Given the description of an element on the screen output the (x, y) to click on. 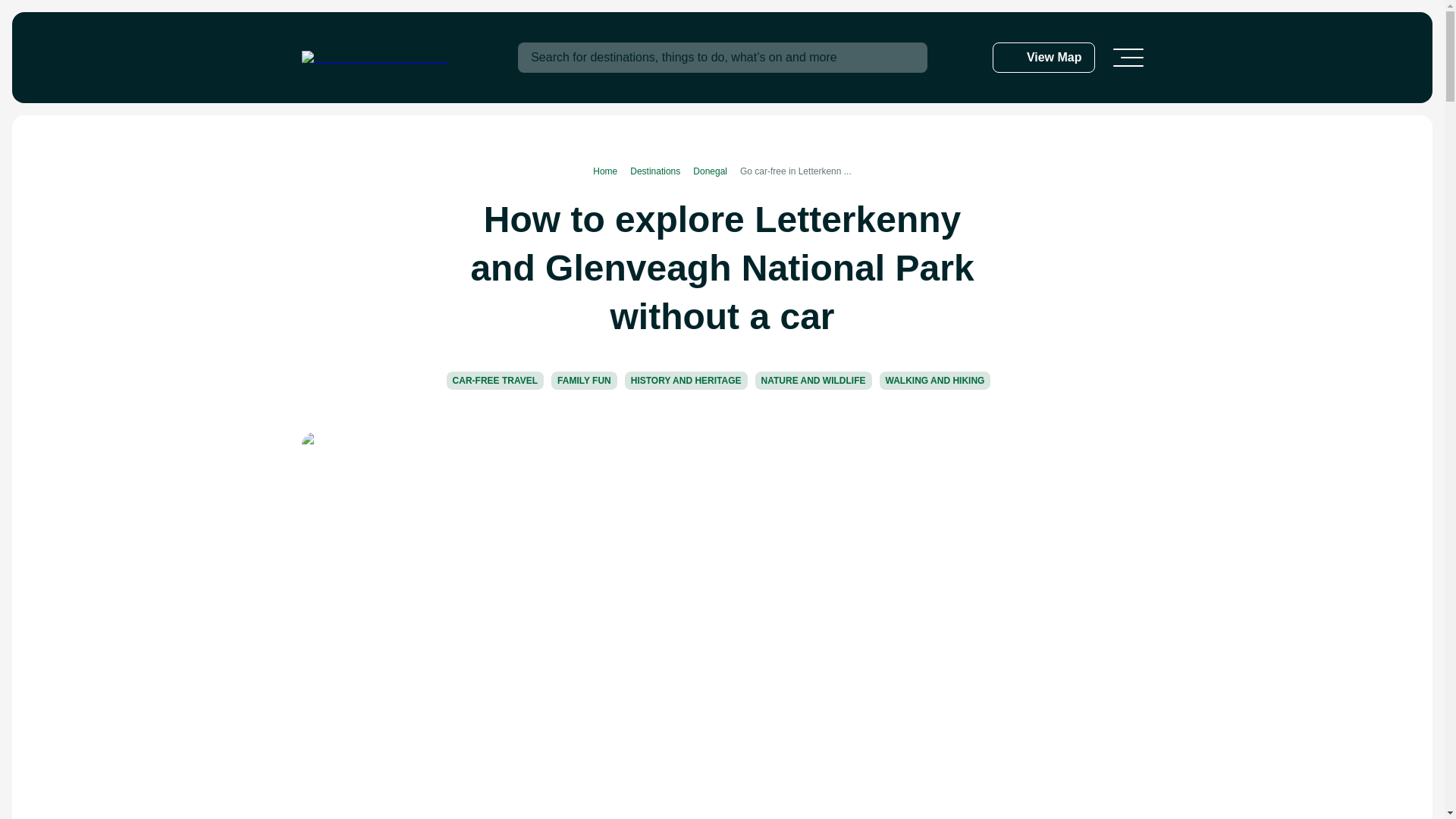
Click to go back to the homepage (374, 57)
WALKING AND HIKING (935, 380)
View Map (1043, 57)
CAR-FREE TRAVEL (494, 380)
NATURE AND WILDLIFE (813, 380)
HISTORY AND HERITAGE (686, 380)
Destinations (661, 171)
Donegal (716, 171)
FAMILY FUN (584, 380)
